Given the description of an element on the screen output the (x, y) to click on. 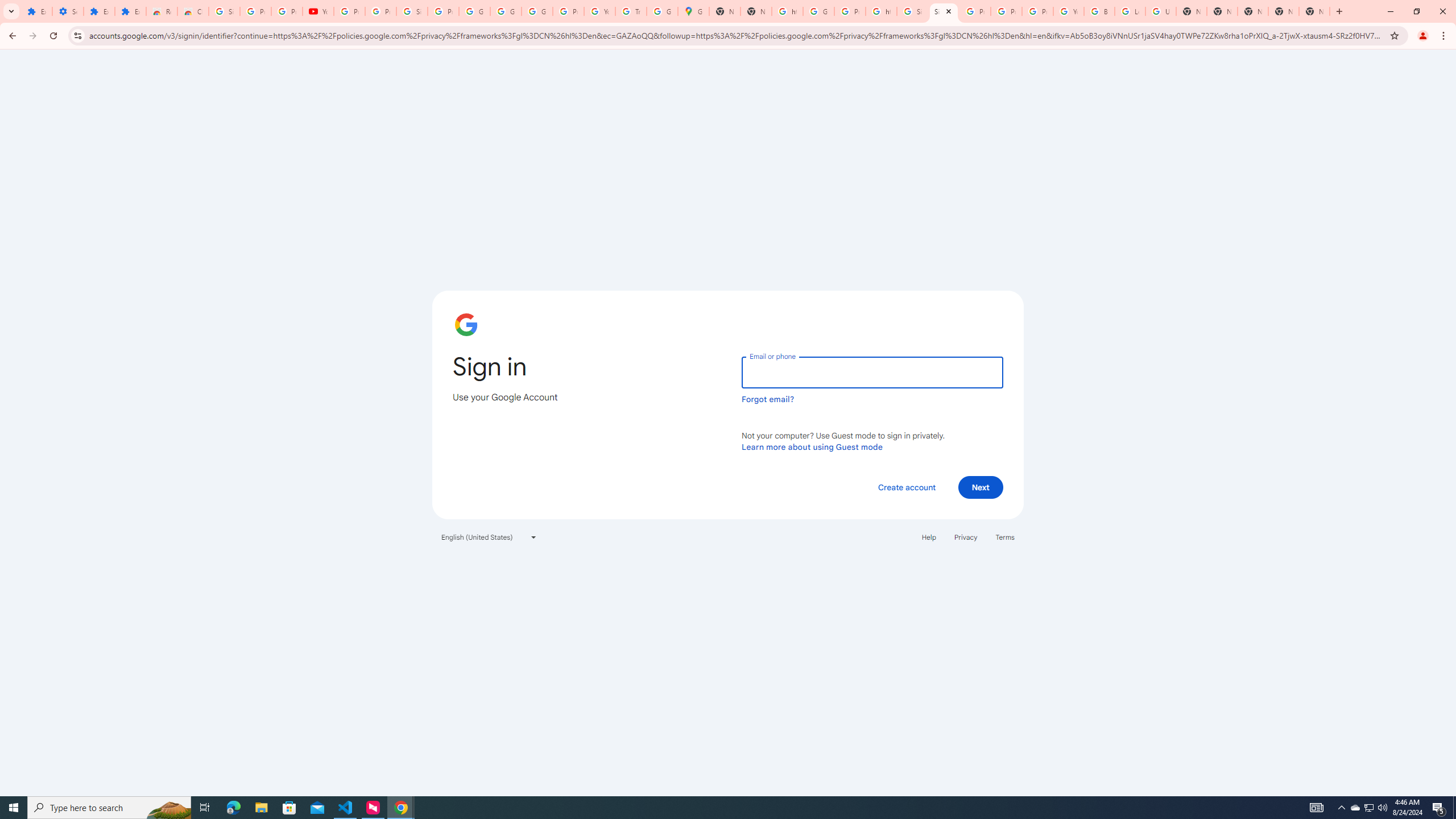
Browse Chrome as a guest - Computer - Google Chrome Help (1098, 11)
YouTube (318, 11)
Sign in - Google Accounts (411, 11)
New Tab (1222, 11)
Forgot email? (767, 398)
Next (980, 486)
New Tab (1252, 11)
Privacy (965, 536)
